Given the description of an element on the screen output the (x, y) to click on. 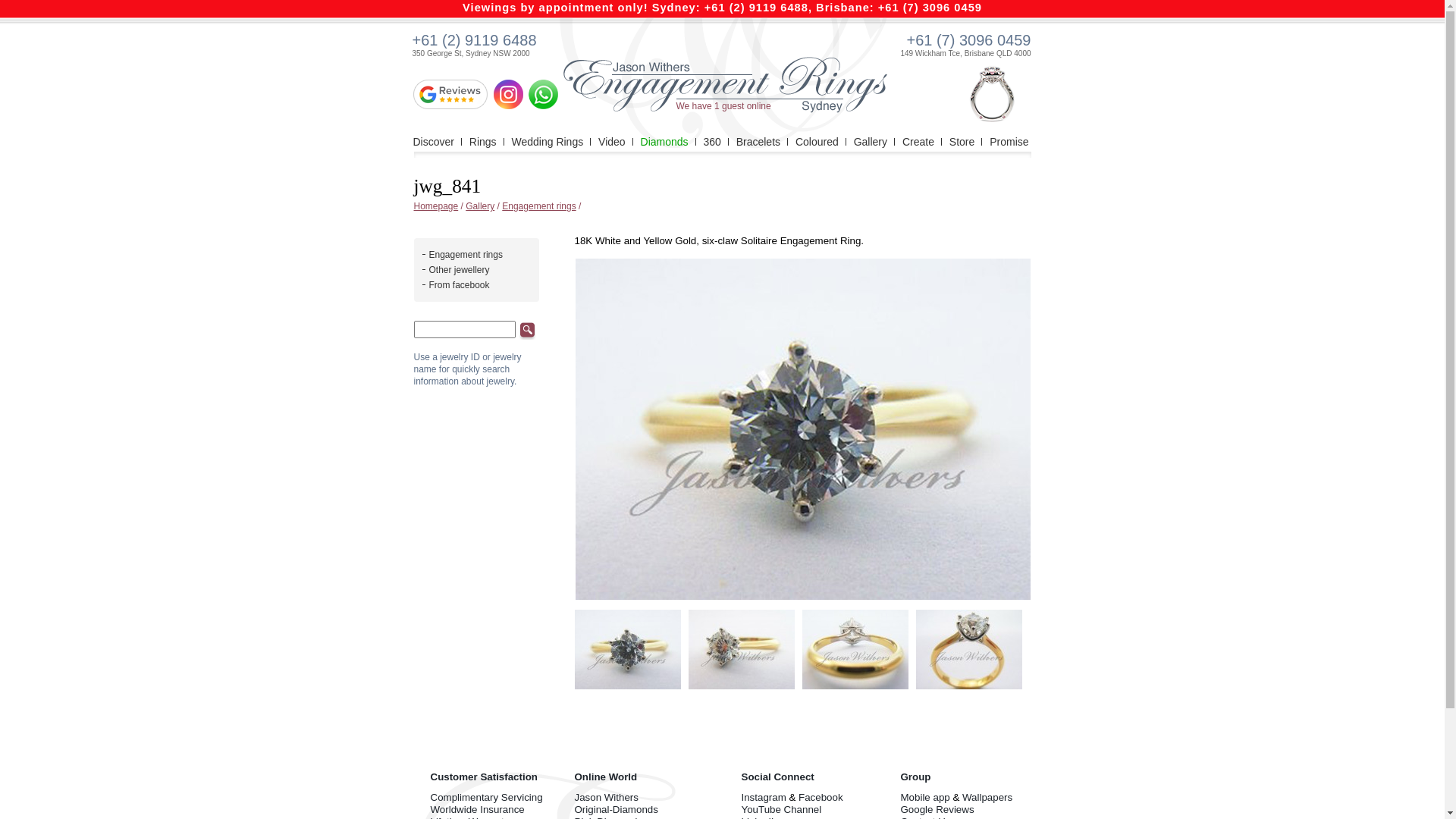
Video Element type: text (611, 141)
Google Reviews Element type: text (937, 809)
jwg_841 Element type: hover (801, 428)
Promise Element type: text (1008, 141)
Gallery Element type: text (479, 205)
jwg_841 - Photo #3 Element type: hover (855, 649)
+61 (2) 9119 6488 Element type: text (474, 39)
Gallery Element type: text (870, 141)
Diamonds Element type: text (664, 141)
Instagram Element type: hover (507, 94)
Store Element type: text (961, 141)
Complimentary Servicing Element type: text (486, 797)
Mobile app Element type: text (925, 797)
Worldwide Insurance Element type: text (477, 809)
Search by ID Element type: hover (526, 329)
Homepage Element type: text (436, 205)
From facebook Element type: text (459, 284)
Engagement rings Element type: text (465, 254)
jwg_841 - Photo #2 Element type: hover (741, 649)
Wallpapers Element type: text (987, 797)
YouTube Channel Element type: text (781, 809)
Rings Element type: text (482, 141)
Other jewellery Element type: text (459, 269)
Google Reviews Element type: hover (450, 94)
Coloured Element type: text (816, 141)
jwg_841 - Photo #4 Element type: hover (969, 649)
jwg_841 - Photo #1 Element type: hover (627, 649)
Instagram Element type: text (763, 797)
Create Element type: text (918, 141)
Bracelets Element type: text (758, 141)
Wedding Rings Element type: text (547, 141)
Facebook Element type: text (820, 797)
Jason Withers Element type: text (606, 797)
360 Element type: text (711, 141)
+61 (7) 3096 0459 Element type: text (968, 39)
WhatsApp Element type: hover (543, 94)
Original-Diamonds Element type: text (616, 809)
Discover Element type: text (432, 141)
Engagement rings Element type: text (538, 205)
